Given the description of an element on the screen output the (x, y) to click on. 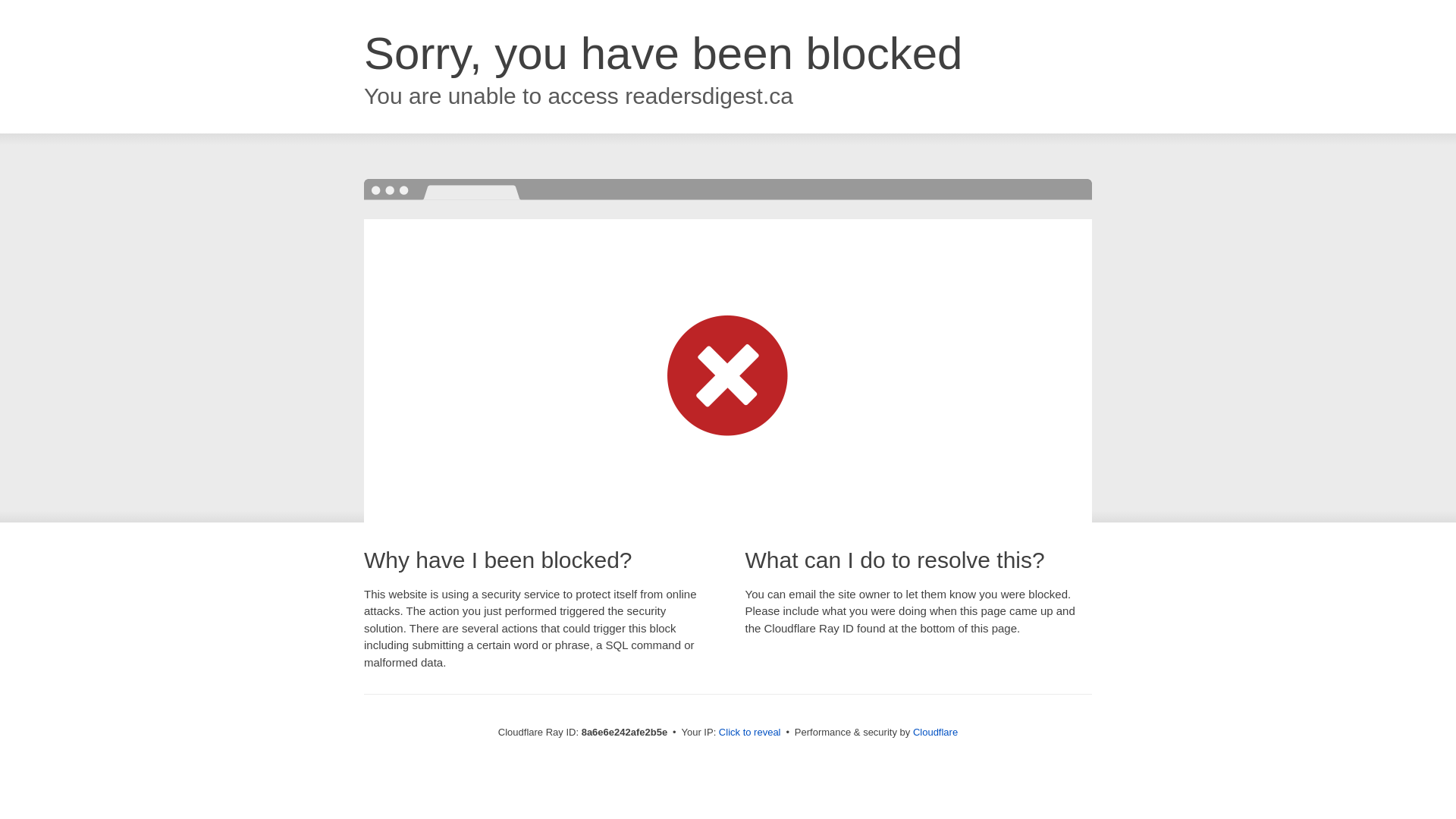
Click to reveal (749, 732)
Cloudflare (935, 731)
